Given the description of an element on the screen output the (x, y) to click on. 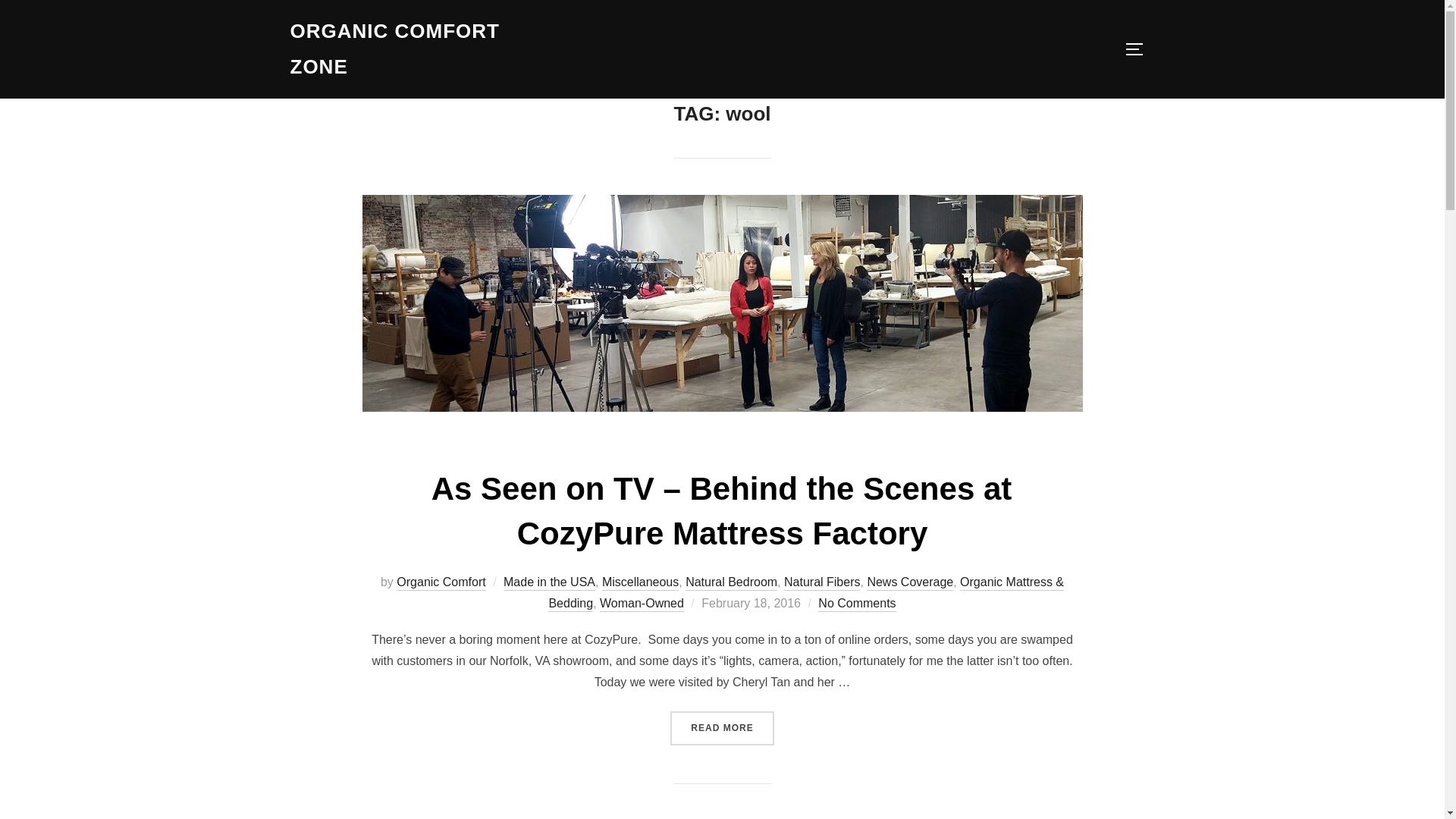
Miscellaneous (640, 582)
Natural Bedroom (731, 582)
Natural Fibers (822, 582)
ORGANIC COMFORT ZONE (421, 49)
No Comments (856, 604)
Made in the USA (549, 582)
News Coverage (909, 582)
Woman-Owned (641, 604)
Organic Comfort (440, 582)
